Given the description of an element on the screen output the (x, y) to click on. 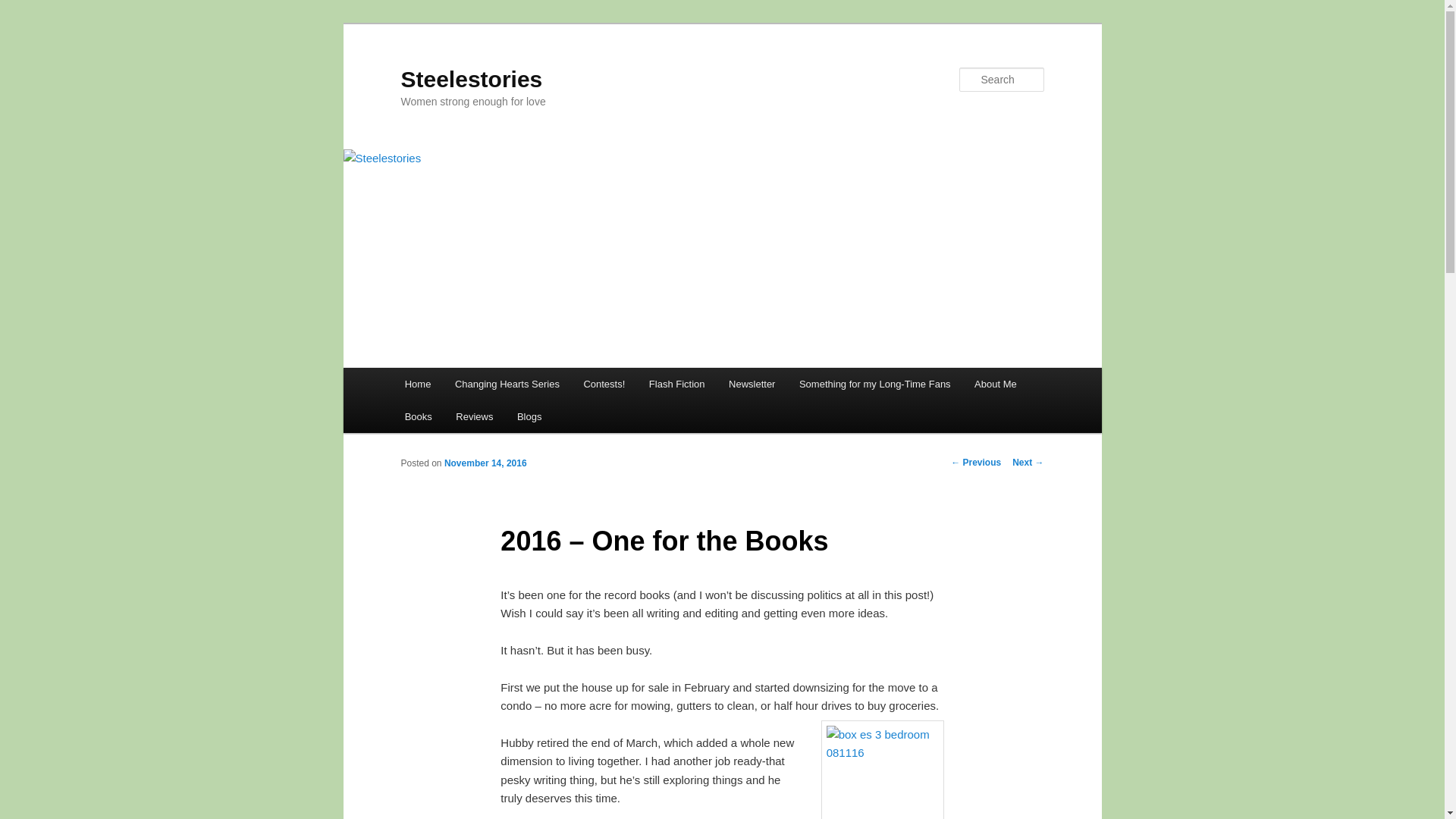
Home (417, 383)
Something for my Long-Time Fans (874, 383)
Contests! (604, 383)
Books (418, 416)
Search (24, 8)
Steelestories (470, 78)
Flash Fiction (676, 383)
Changing Hearts Series (507, 383)
11:10 pm (485, 462)
